Given the description of an element on the screen output the (x, y) to click on. 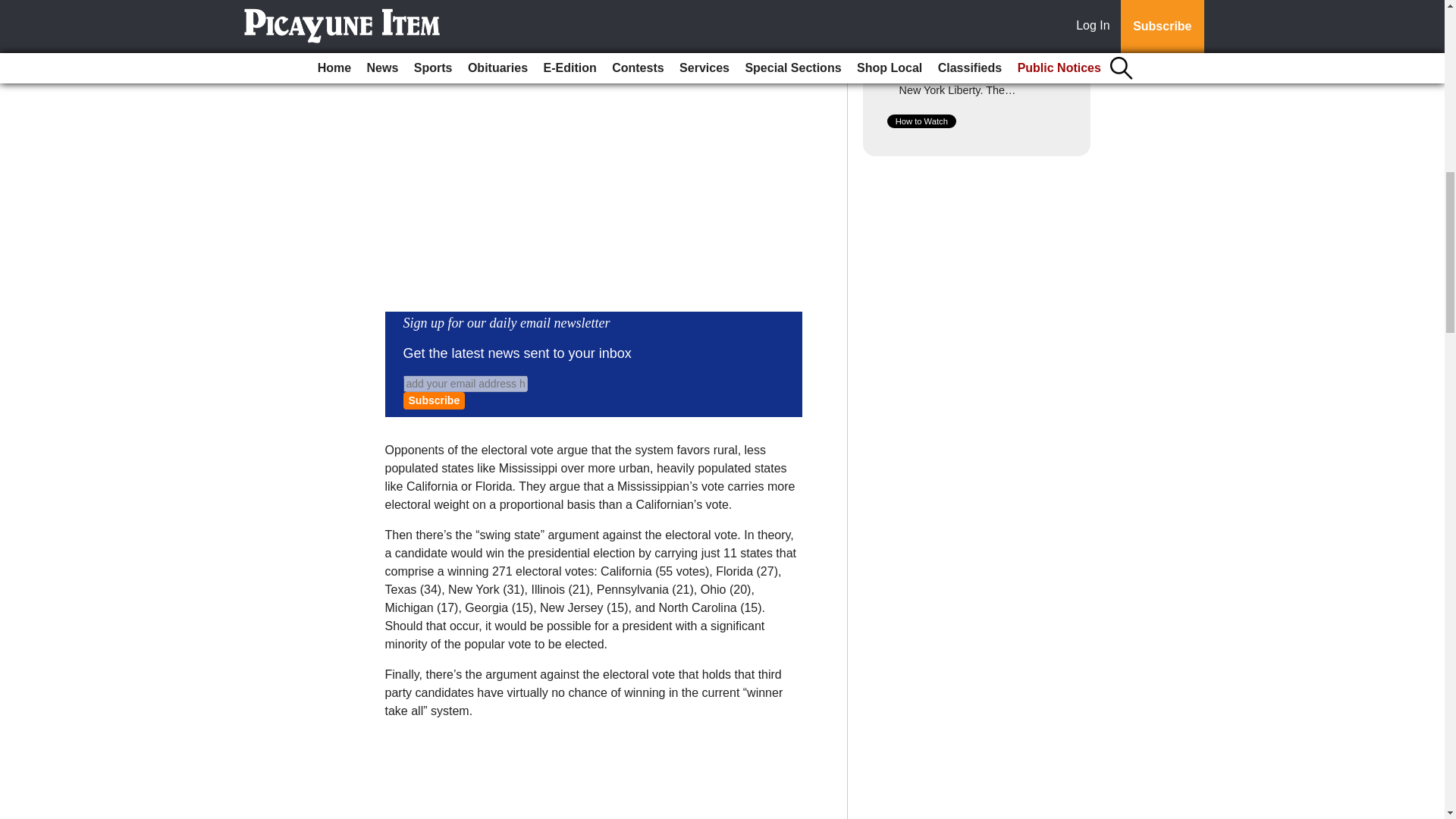
Subscribe (434, 400)
Subscribe (434, 400)
